Given the description of an element on the screen output the (x, y) to click on. 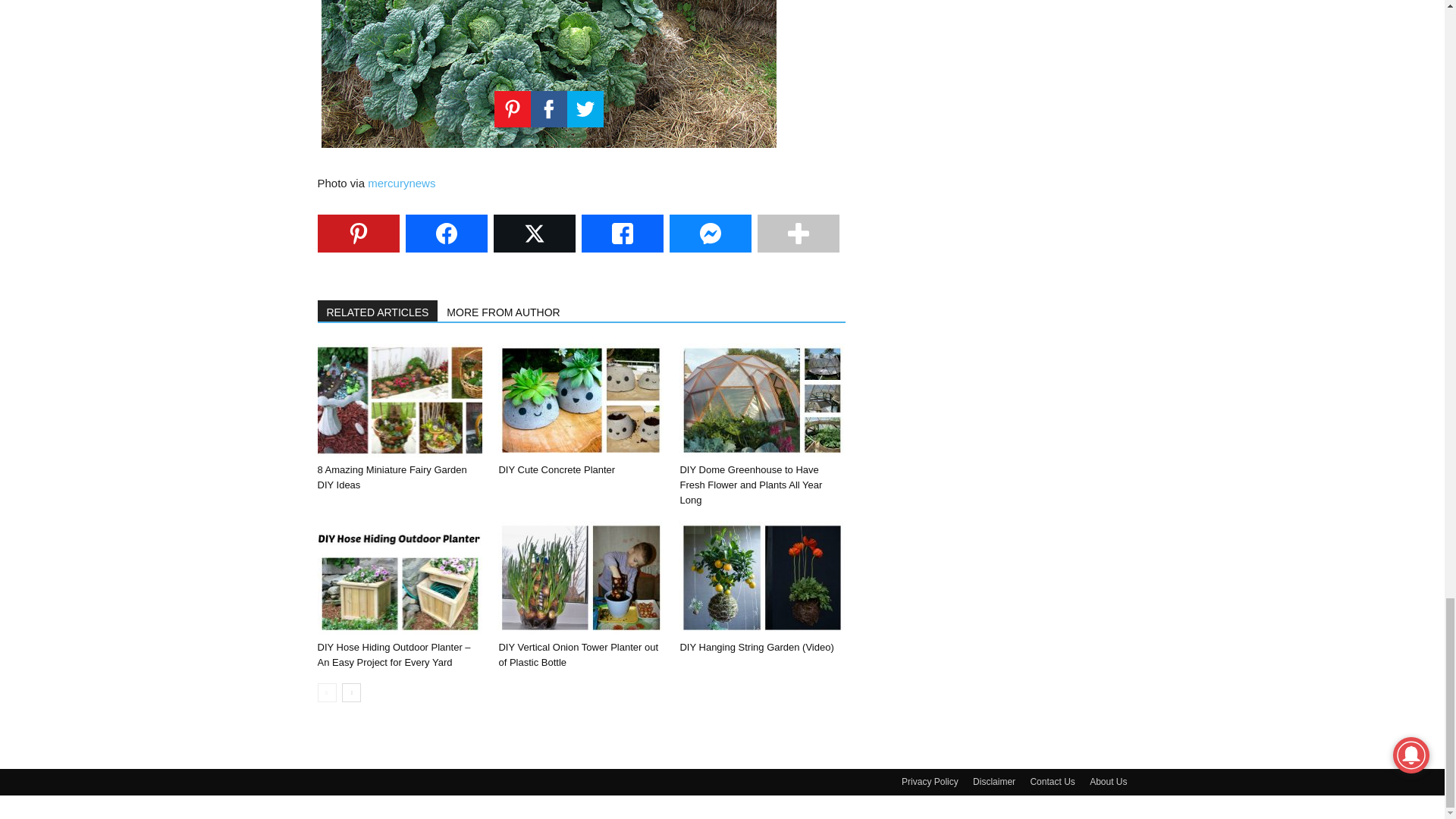
Share on More Button (797, 233)
Share on Facebook (445, 233)
Share on Facebook Messenger (709, 233)
Share on Twitter (534, 233)
Share on Like (621, 233)
Share on Pinterest (357, 233)
